Given the description of an element on the screen output the (x, y) to click on. 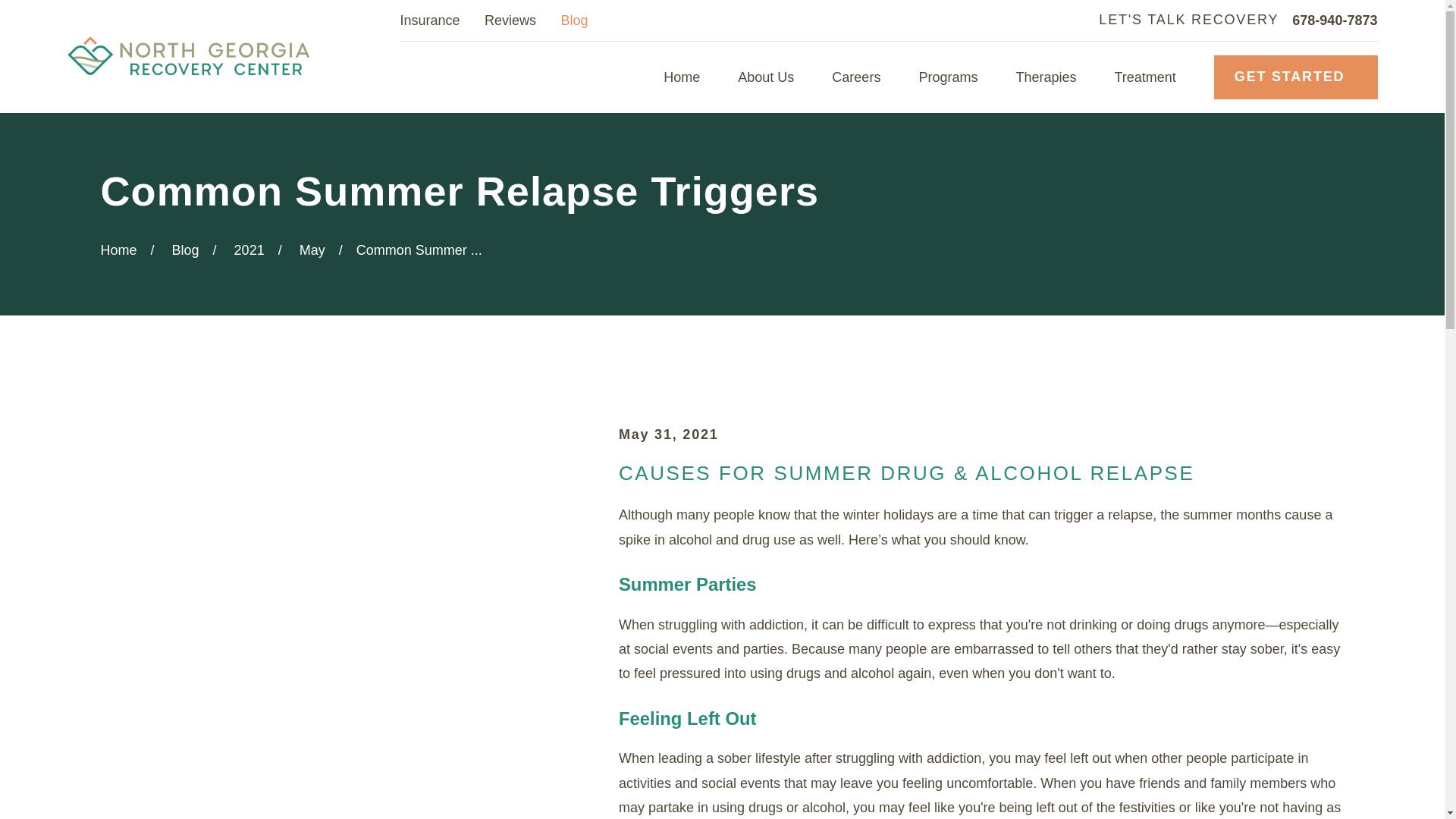
Therapies (1044, 77)
Reviews (509, 20)
Blog (574, 20)
About Us (765, 77)
Programs (947, 77)
Insurance (430, 20)
Treatment (1143, 77)
Go Home (118, 249)
Careers (855, 77)
Home (187, 55)
North Georgia Recovery Center (187, 55)
678-940-7873 (1334, 20)
